Given the description of an element on the screen output the (x, y) to click on. 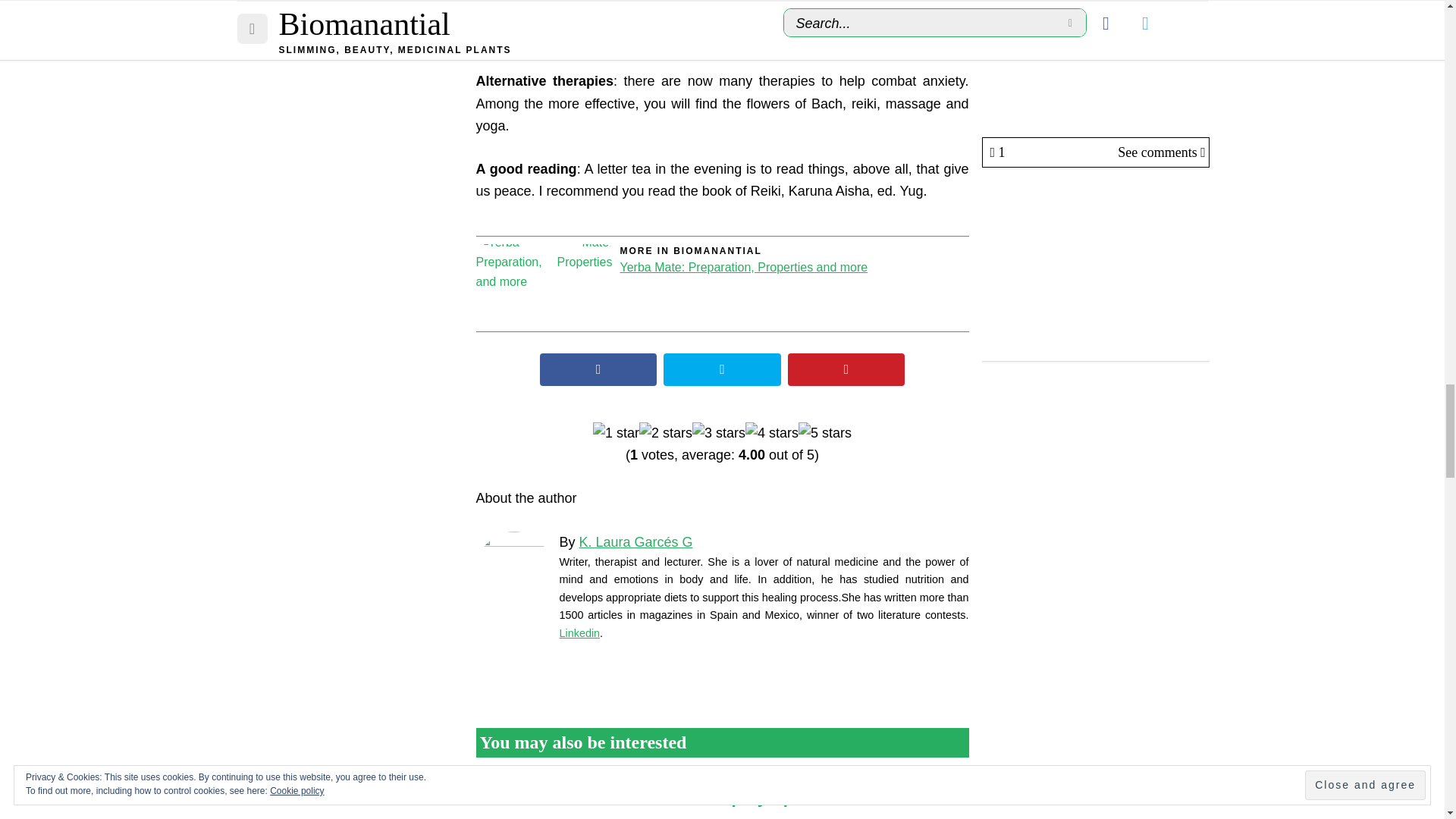
4 stars (771, 433)
3 stars (719, 433)
2 stars (666, 433)
Sap Syrup diet (589, 784)
1 star (615, 433)
5 stars (824, 433)
Yerba Mate: Preparation, Properties and more (544, 283)
